Given the description of an element on the screen output the (x, y) to click on. 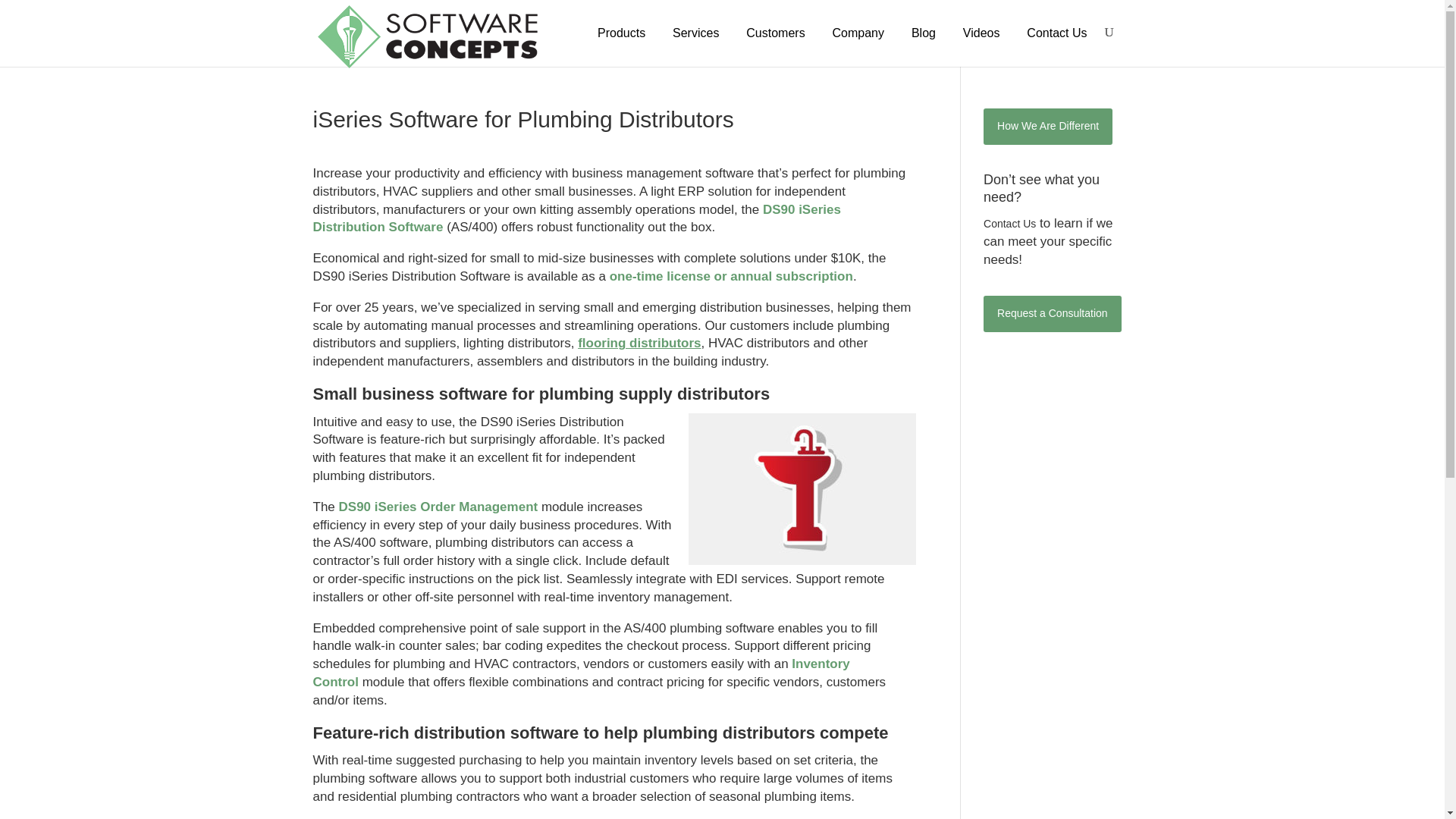
Services (695, 33)
DS90 iSeries Distribution Software (576, 218)
Videos (981, 33)
Company (858, 33)
Customers (775, 33)
Products (621, 33)
one-time license or annual subscription (731, 276)
Contact Us (1056, 33)
